Given the description of an element on the screen output the (x, y) to click on. 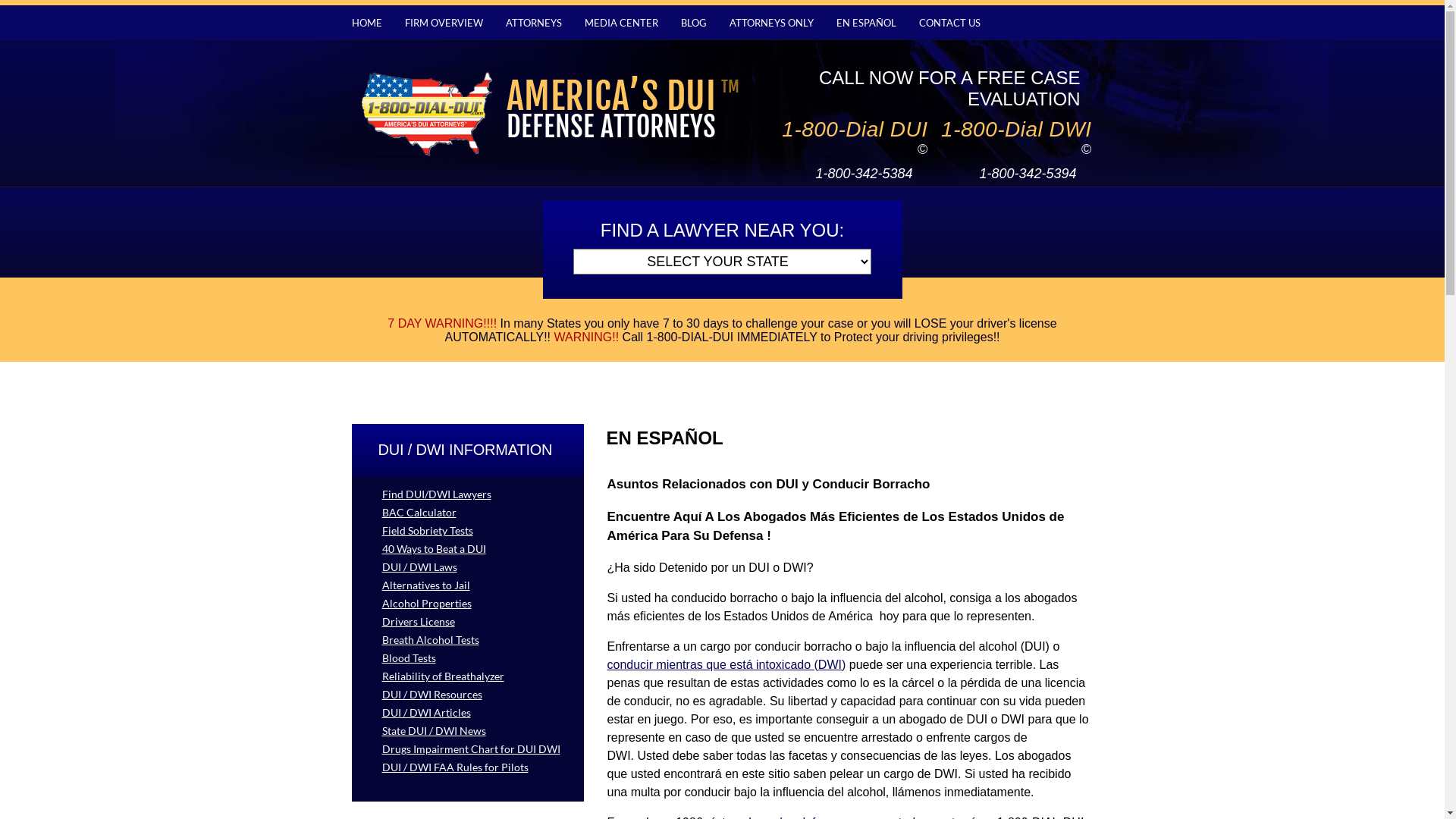
BLOG Element type: text (693, 22)
State DUI / DWI News Element type: text (467, 730)
Field Sobriety Tests Element type: text (467, 530)
DUI / DWI Articles Element type: text (467, 712)
Alternatives to Jail Element type: text (467, 584)
ATTORNEYS Element type: text (533, 22)
HOME Element type: text (366, 22)
MEDIA CENTER Element type: text (620, 22)
DUI / DWI Resources Element type: text (467, 693)
BAC Calculator Element type: text (467, 511)
CONTACT US Element type: text (949, 22)
Alcohol Properties Element type: text (467, 602)
Drugs Impairment Chart for DUI DWI Element type: text (467, 748)
FIRM OVERVIEW Element type: text (443, 22)
Reliability of Breathalyzer Element type: text (467, 675)
ATTORNEYS ONLY Element type: text (771, 22)
40 Ways to Beat a DUI Element type: text (467, 548)
Blood Tests Element type: text (467, 657)
Find DUI/DWI Lawyers Element type: text (467, 493)
Breath Alcohol Tests Element type: text (467, 639)
Drivers License Element type: text (467, 621)
DUI / DWI Laws Element type: text (467, 566)
DUI / DWI FAA Rules for Pilots Element type: text (467, 766)
